Given the description of an element on the screen output the (x, y) to click on. 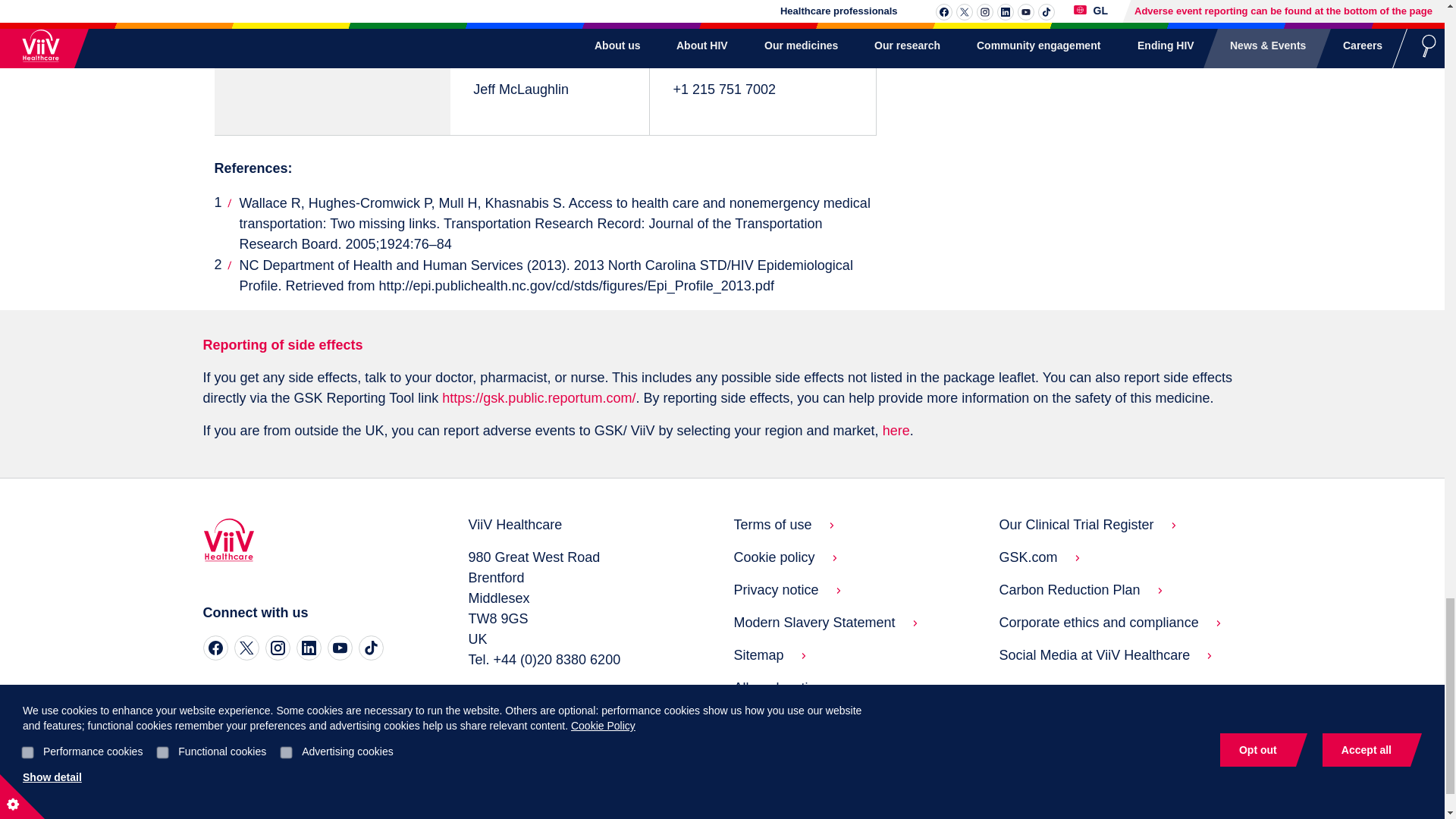
Privacy Notice (772, 524)
ViiV Healthcare logo (228, 540)
